Given the description of an element on the screen output the (x, y) to click on. 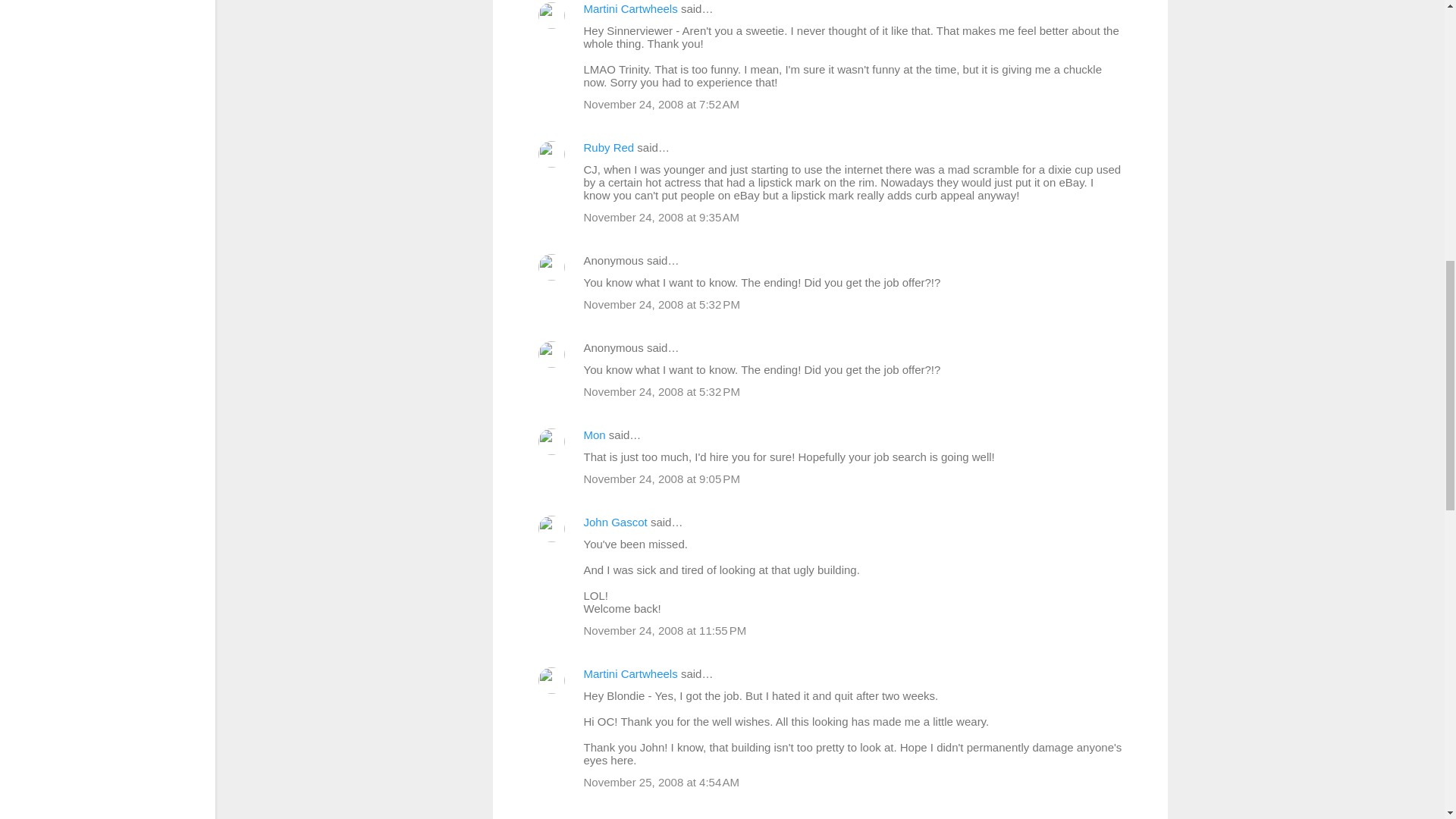
Martini Cartwheels (630, 673)
John Gascot (615, 521)
Mon (594, 434)
Ruby Red (608, 146)
Martini Cartwheels (630, 8)
